Given the description of an element on the screen output the (x, y) to click on. 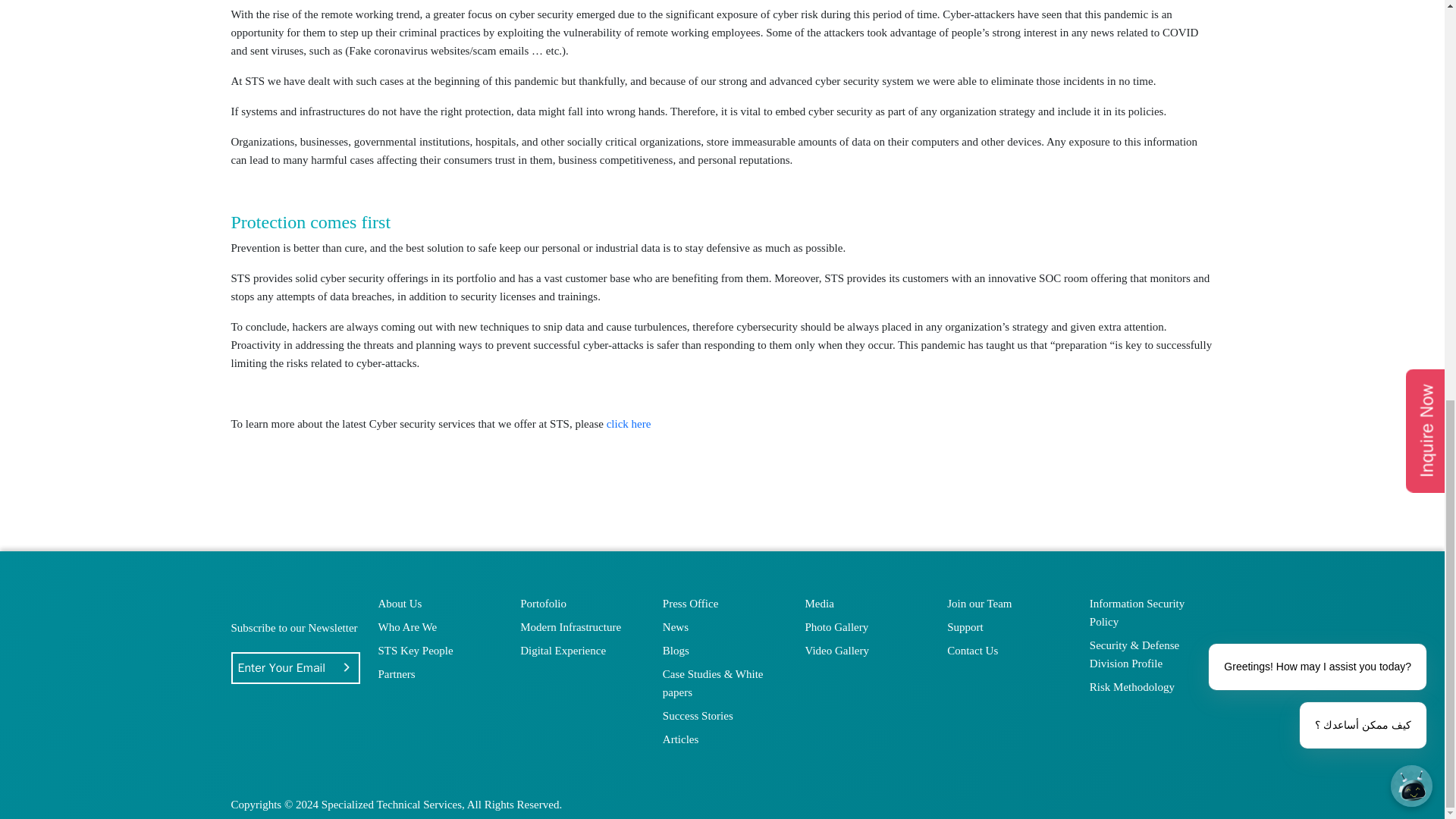
click here (628, 423)
